Given the description of an element on the screen output the (x, y) to click on. 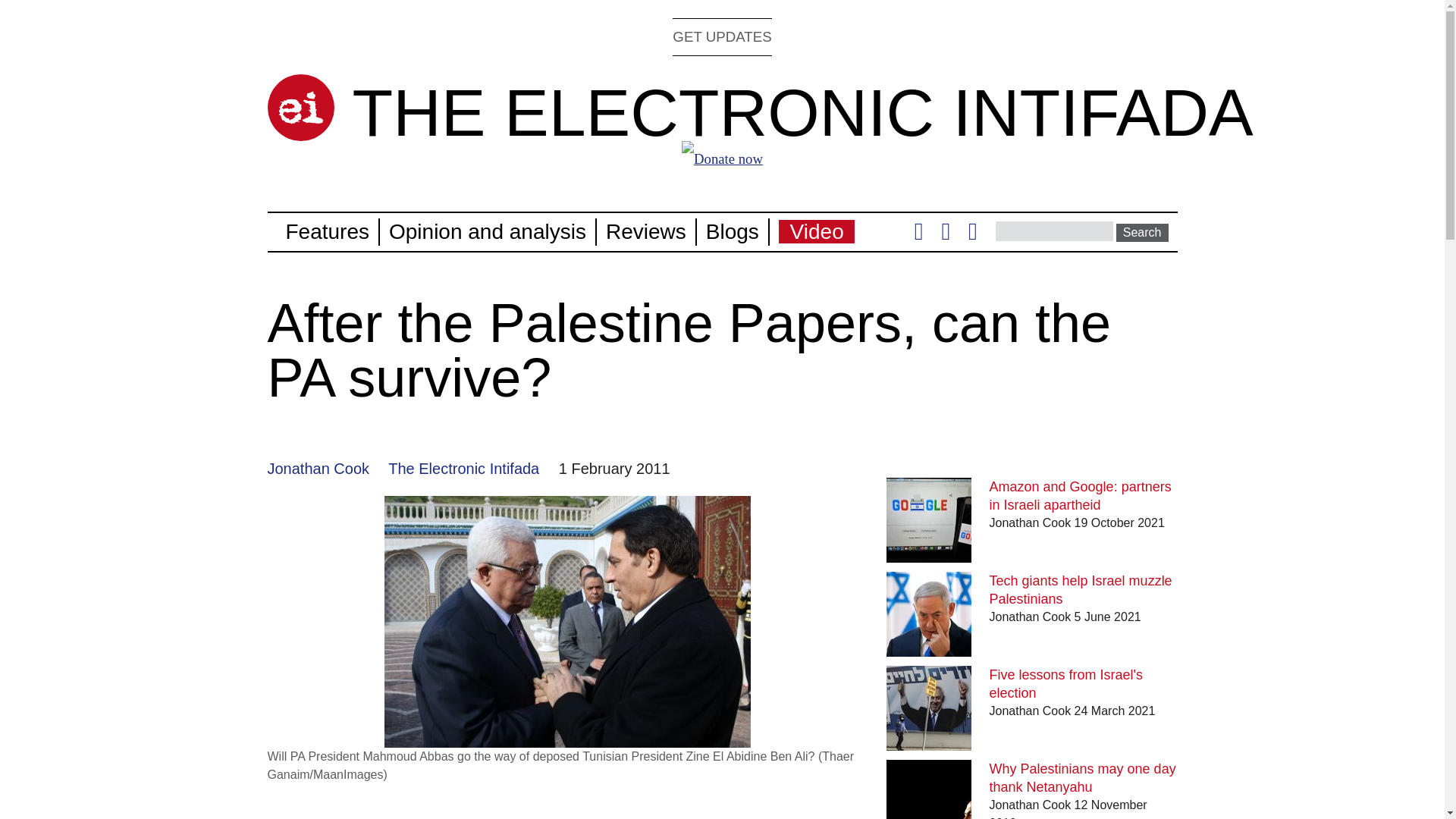
Reviews (645, 231)
Jonathan Cook (317, 468)
Search (1142, 232)
Video (817, 231)
Opinion and analysis (487, 231)
Search (1142, 232)
Features (327, 231)
Why Palestinians may one day thank Netanyahu (1083, 777)
Five lessons from Israel's election (1066, 684)
GET UPDATES (721, 37)
Home (802, 112)
The Electronic Intifada (463, 468)
Amazon and Google: partners in Israeli apartheid (1081, 495)
Tech giants help Israel muzzle Palestinians (1081, 589)
Enter the terms you wish to search for. (1054, 230)
